Given the description of an element on the screen output the (x, y) to click on. 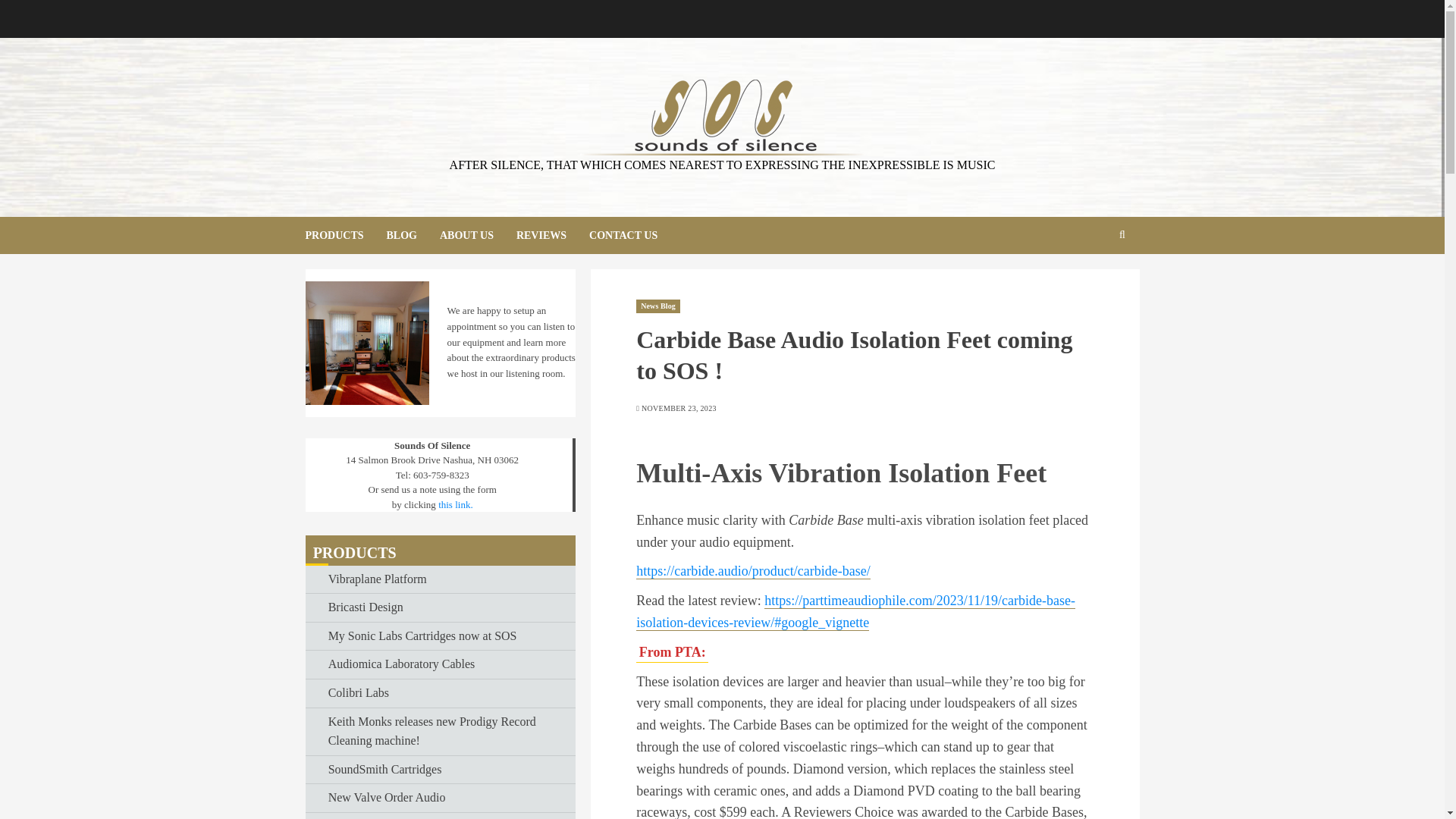
BLOG (413, 235)
News Blog (657, 305)
Kuzma (345, 817)
SoundSmith Cartridges (385, 770)
Search (1058, 234)
My Sonic Labs Cartridges now at SOS (422, 636)
CONTACT US (623, 235)
Colibri Labs (358, 693)
Bricasti Design (366, 607)
Audiomica Laboratory Cables (402, 664)
